Given the description of an element on the screen output the (x, y) to click on. 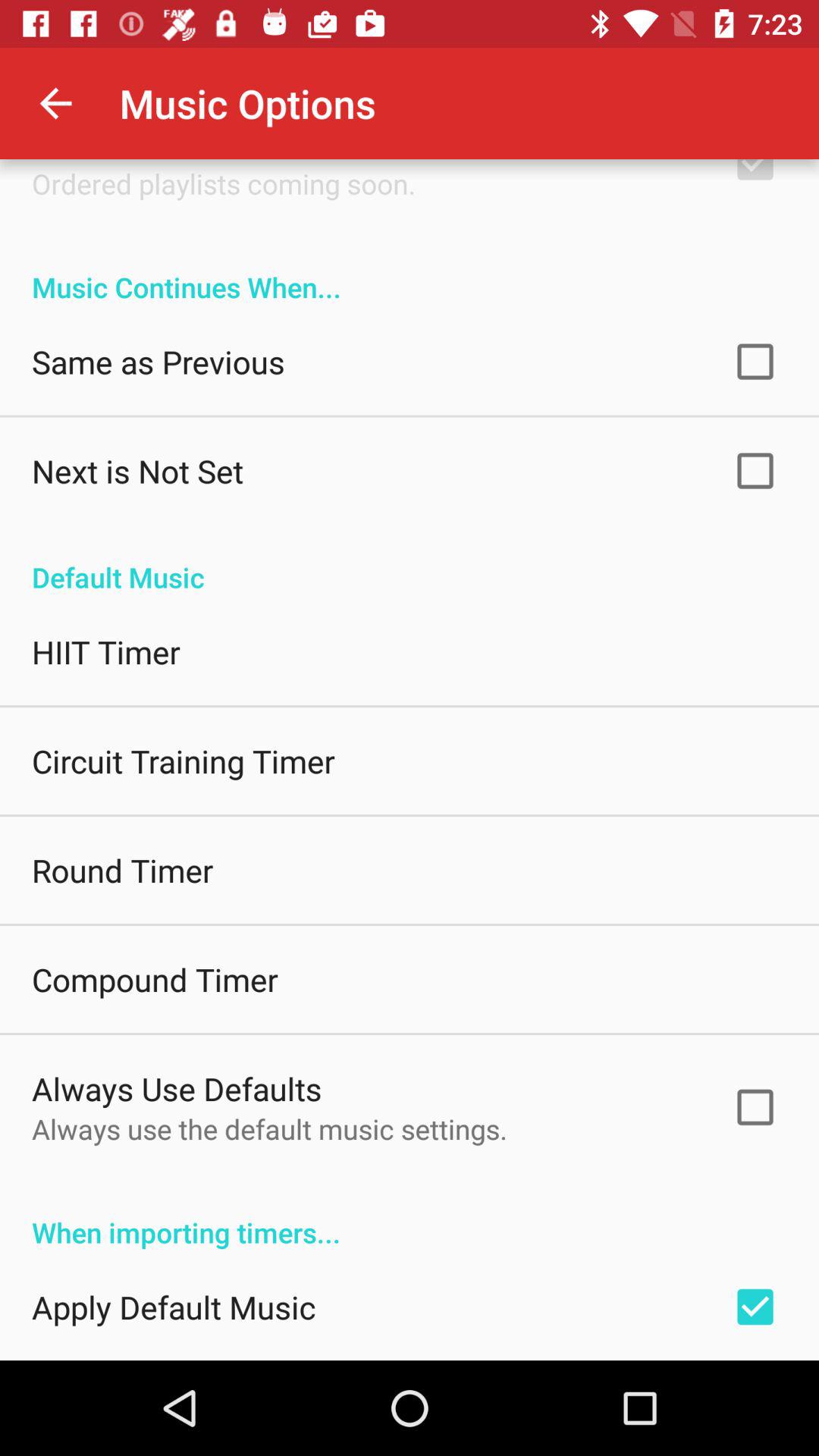
tap the next is not (137, 470)
